Given the description of an element on the screen output the (x, y) to click on. 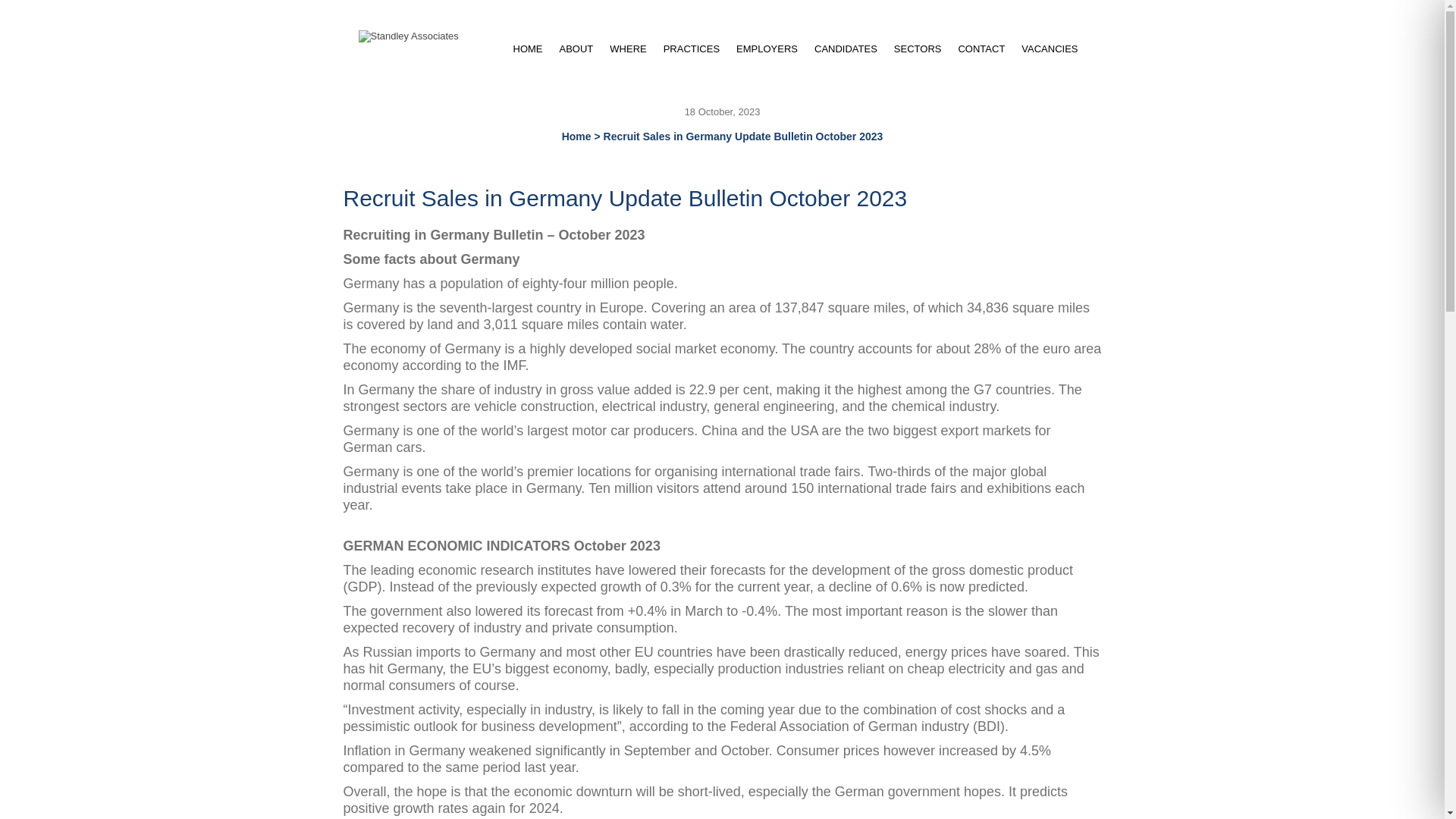
EMPLOYERS (767, 48)
WHERE (627, 48)
ABOUT (575, 48)
Standley Associates (408, 36)
SECTORS (917, 48)
CANDIDATES (845, 48)
PRACTICES (691, 48)
HOME (528, 48)
